Given the description of an element on the screen output the (x, y) to click on. 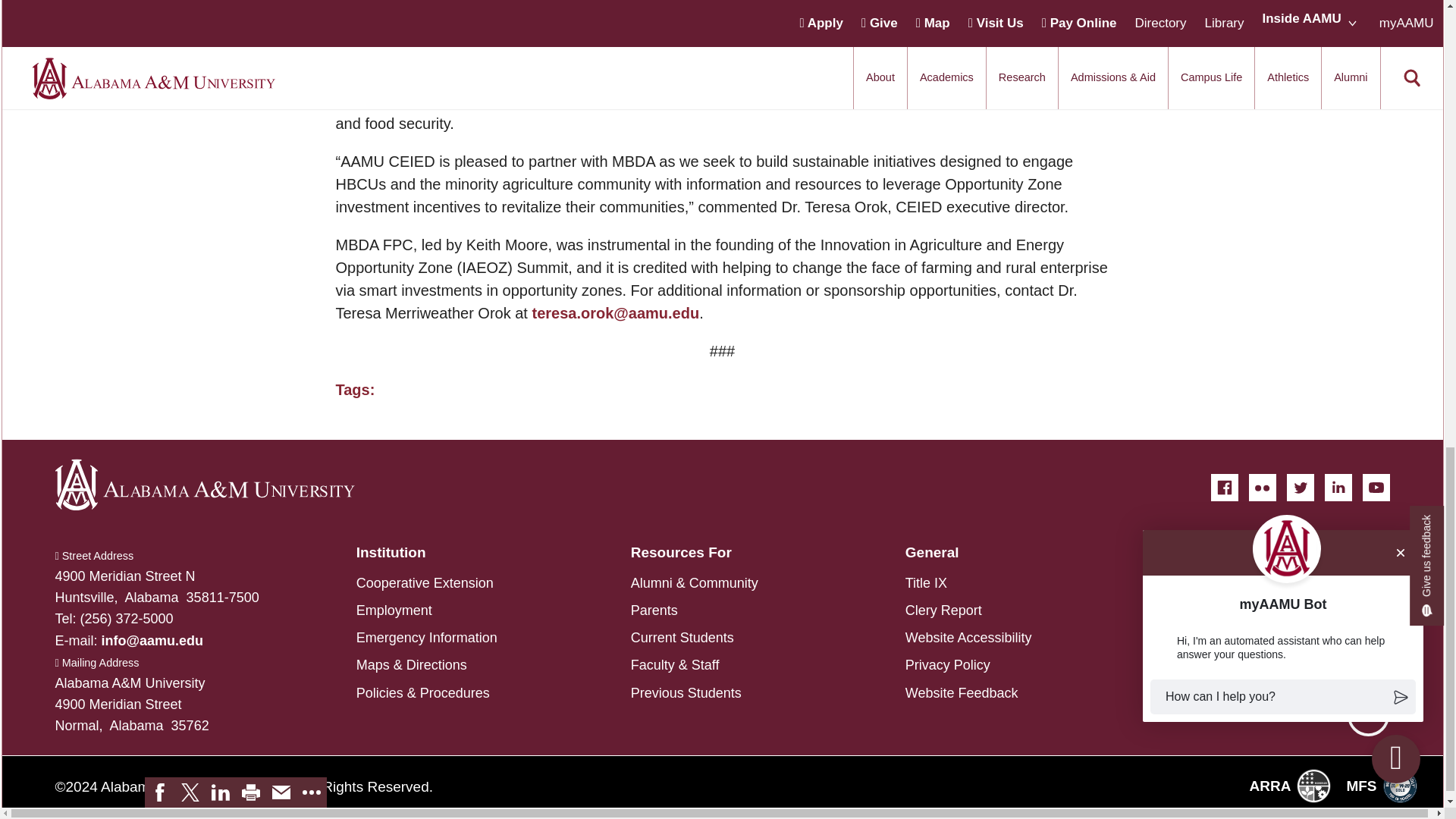
Twitter (1299, 487)
YouTube (1375, 487)
Facebook (1223, 487)
LinkedIn (1337, 487)
Flickr (1261, 487)
